Given the description of an element on the screen output the (x, y) to click on. 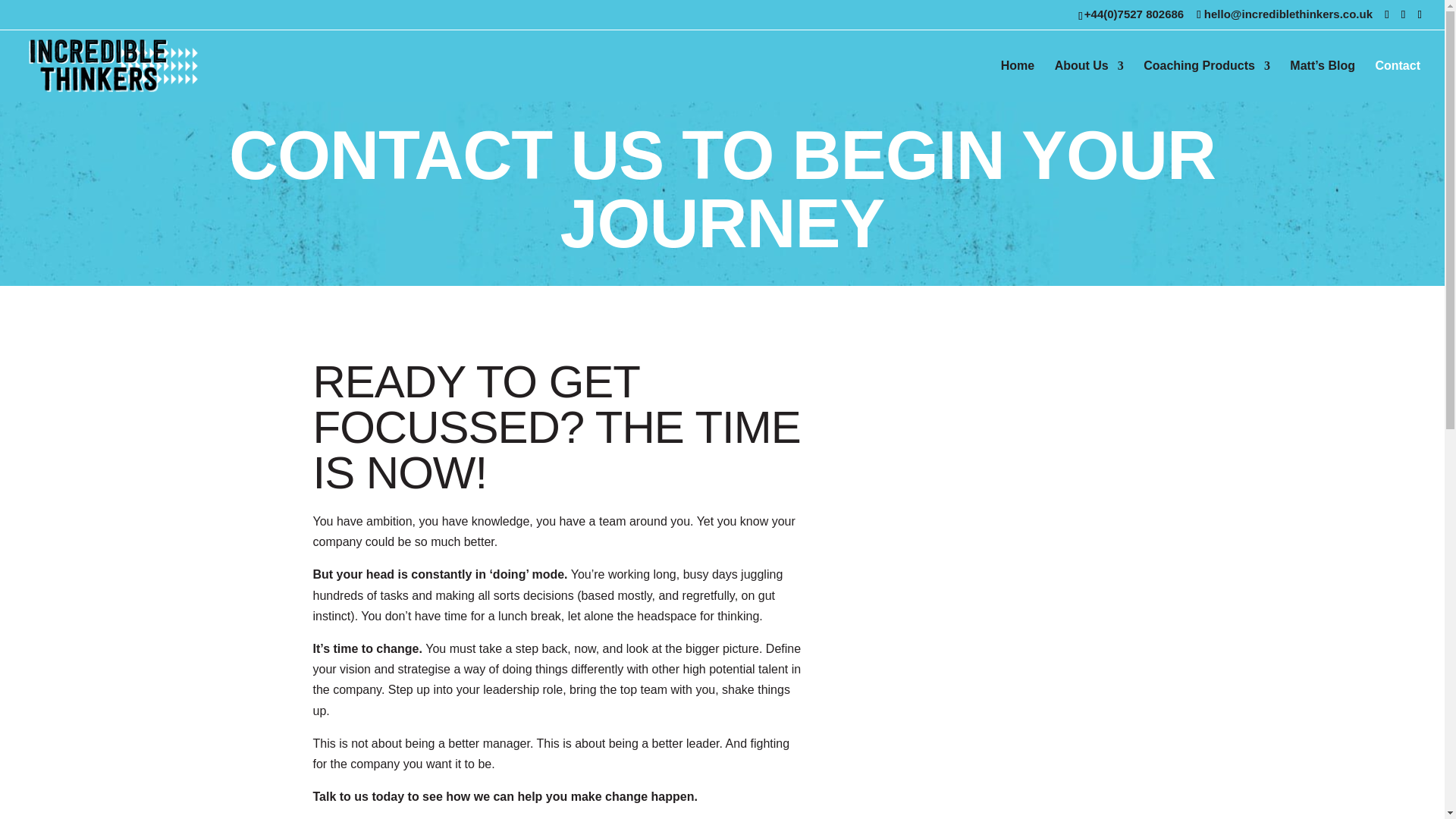
About Us (1089, 80)
Contact (1397, 80)
Coaching Products (1205, 80)
